Given the description of an element on the screen output the (x, y) to click on. 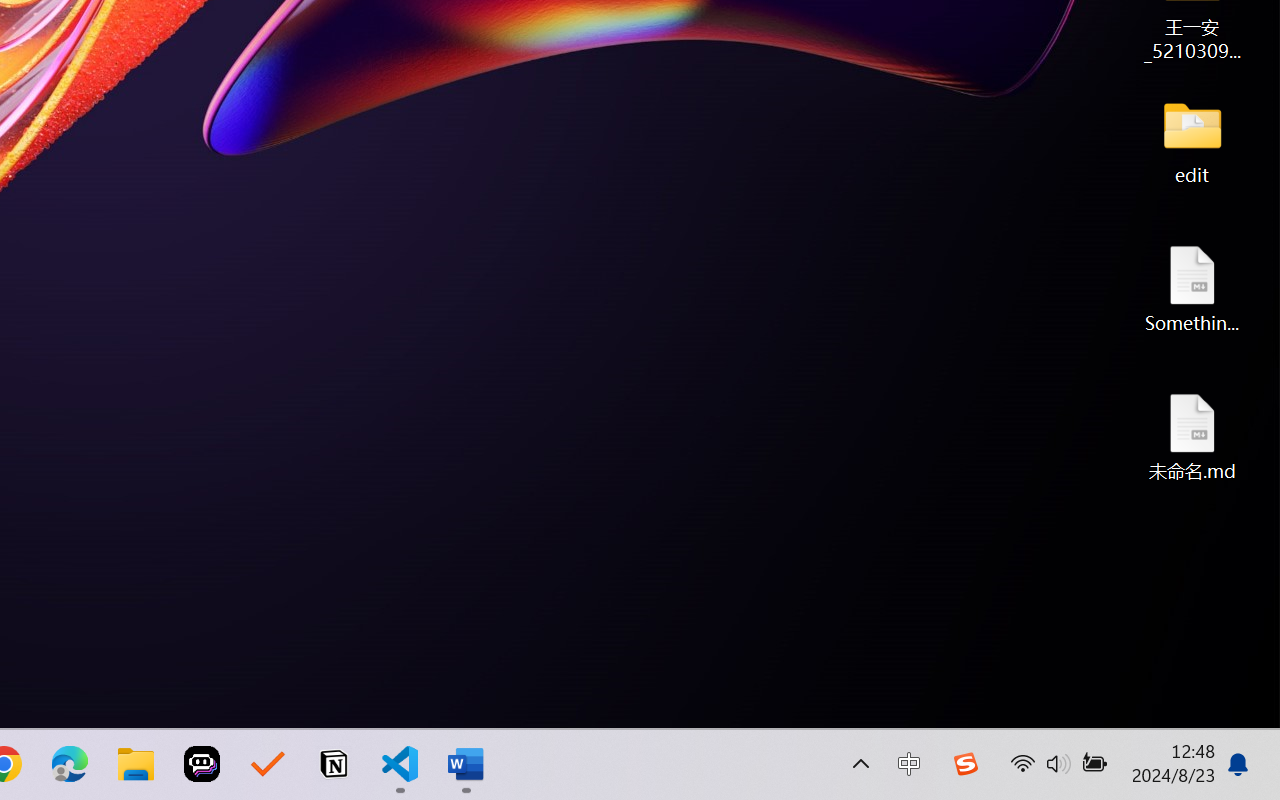
edit (1192, 140)
